Given the description of an element on the screen output the (x, y) to click on. 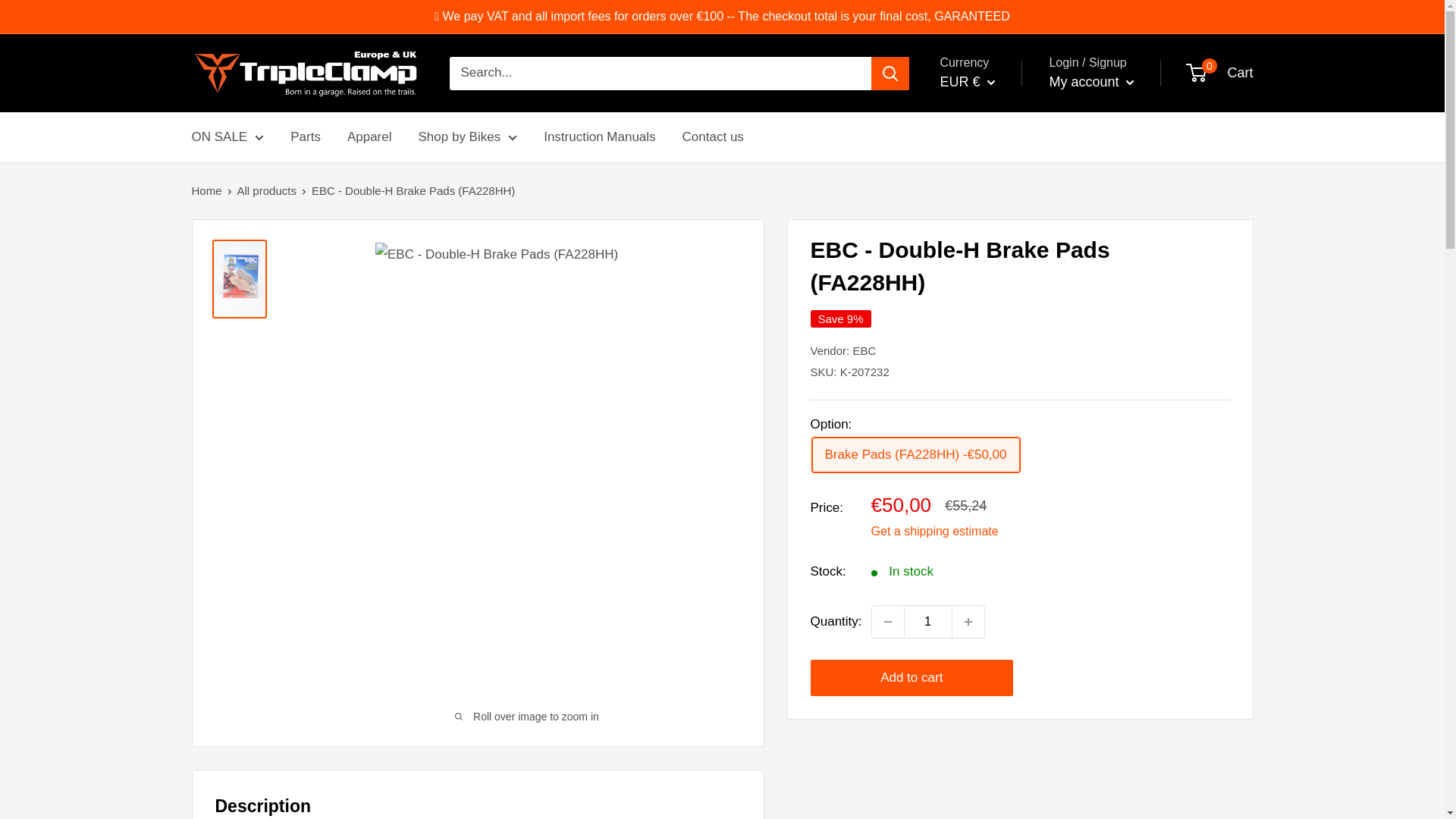
Increase quantity by 1 (968, 622)
Decrease quantity by 1 (888, 622)
1 (928, 622)
